Given the description of an element on the screen output the (x, y) to click on. 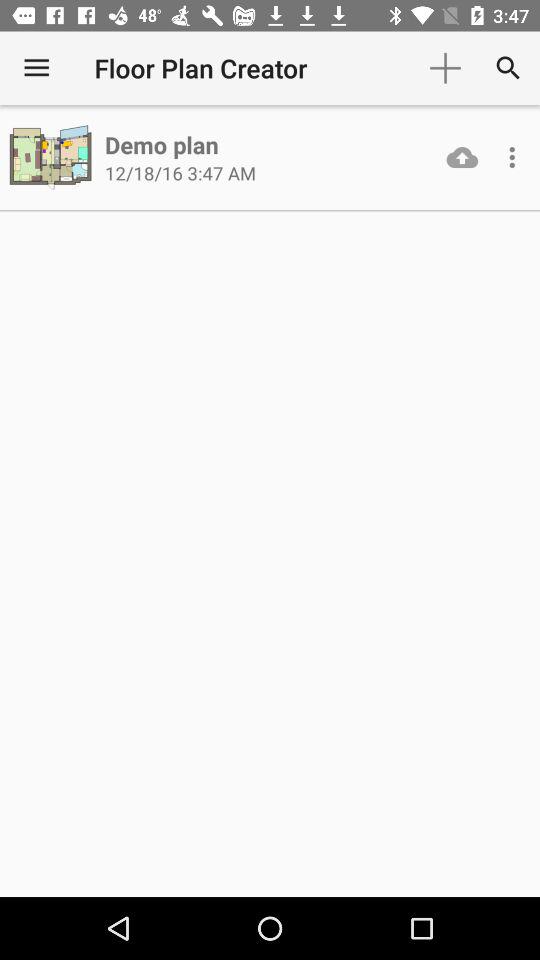
tap the 12 18 16 (180, 172)
